Given the description of an element on the screen output the (x, y) to click on. 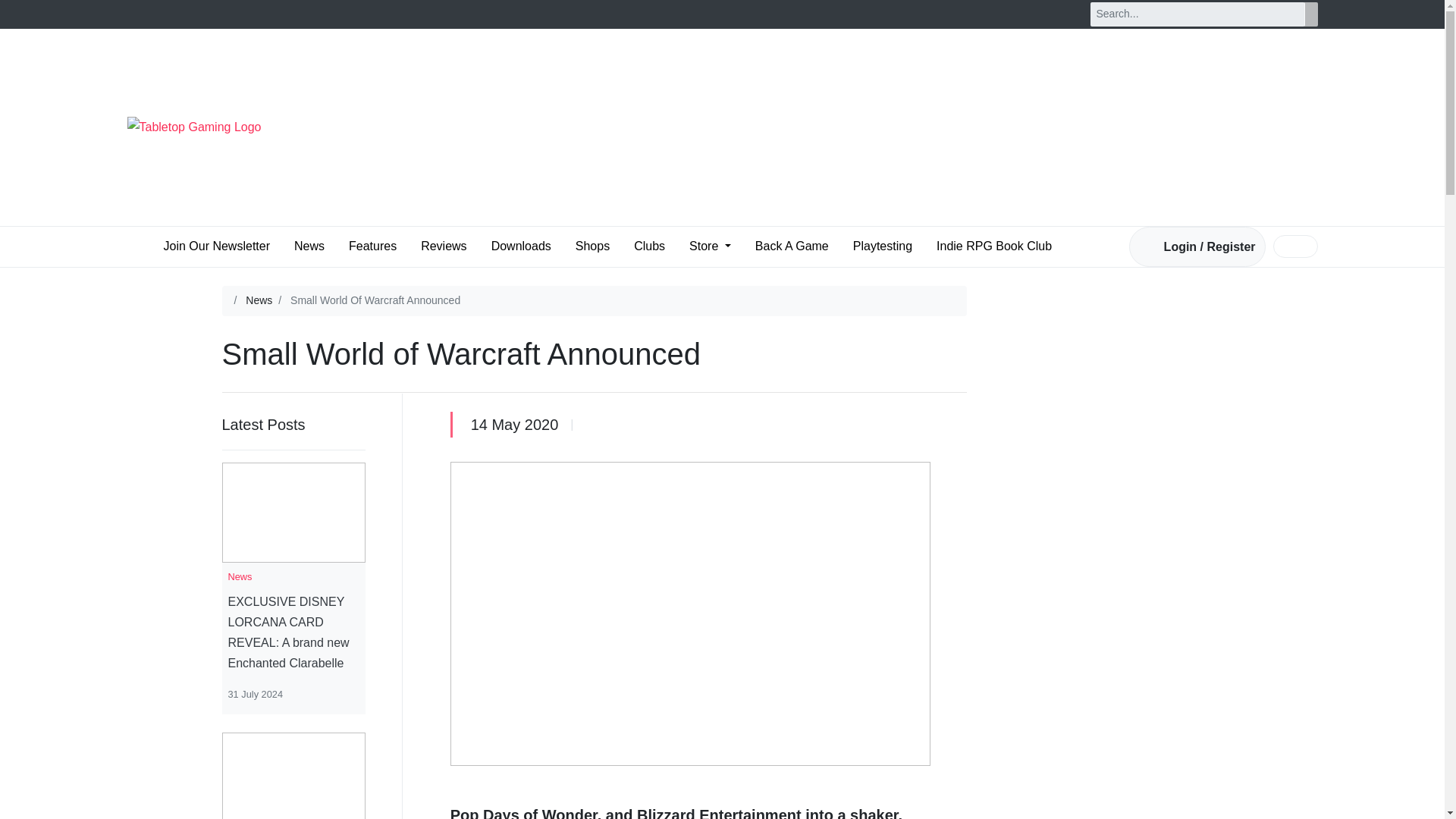
Join Our Newsletter (216, 246)
Clubs (649, 246)
Back A Game (791, 246)
Indie RPG Book Club (994, 246)
Downloads (520, 246)
Reviews (442, 246)
News (259, 300)
Playtesting (882, 246)
Features (372, 246)
Store (709, 246)
Shops (592, 246)
News (309, 246)
